Given the description of an element on the screen output the (x, y) to click on. 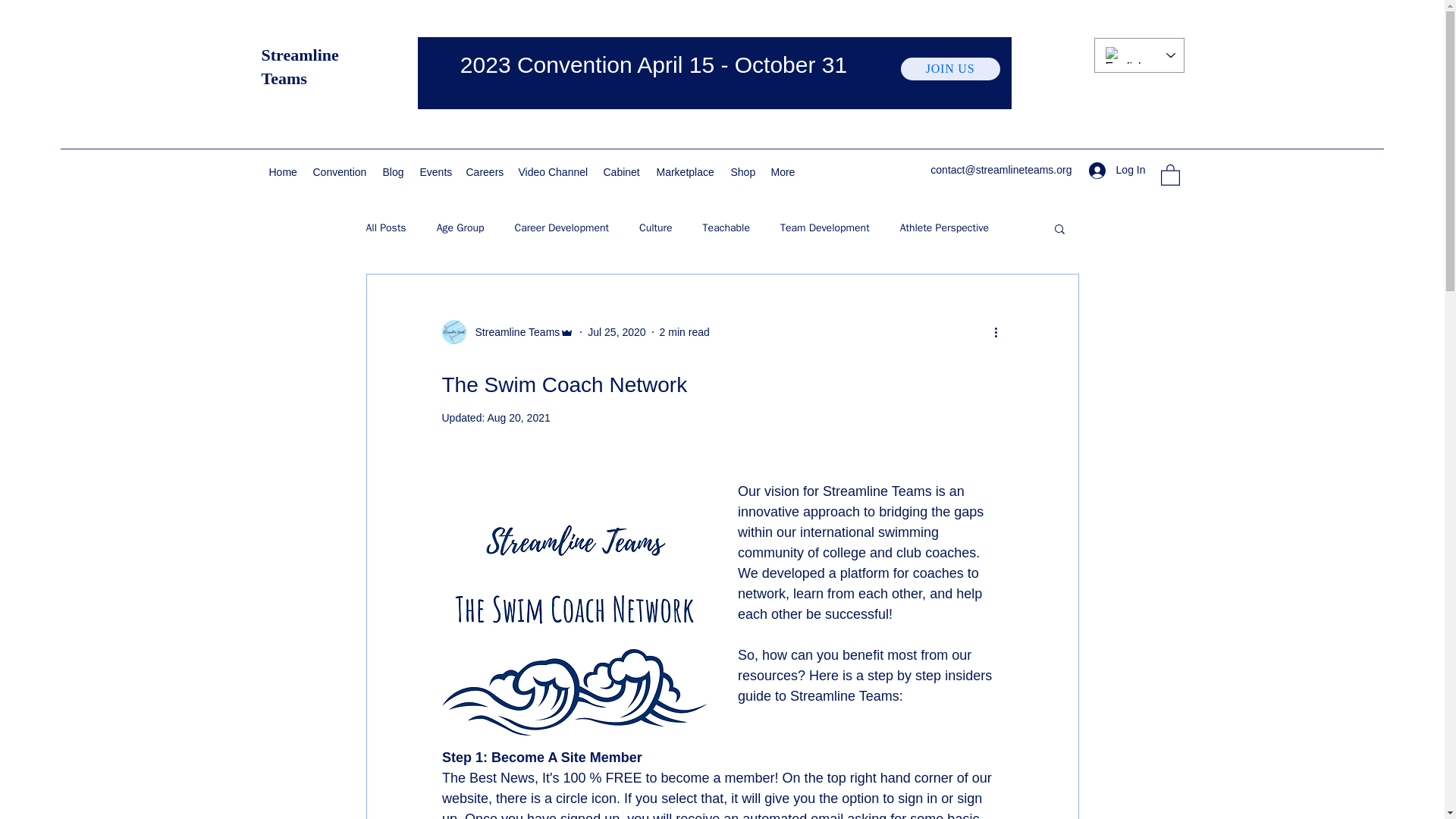
JOIN US (950, 68)
Aug 20, 2021 (518, 417)
2 min read (684, 331)
Teachable (726, 228)
Streamline  Teams (512, 332)
Streamline Teams (298, 66)
Culture (655, 228)
All Posts (385, 228)
Jul 25, 2020 (616, 331)
Log In (1117, 170)
